Given the description of an element on the screen output the (x, y) to click on. 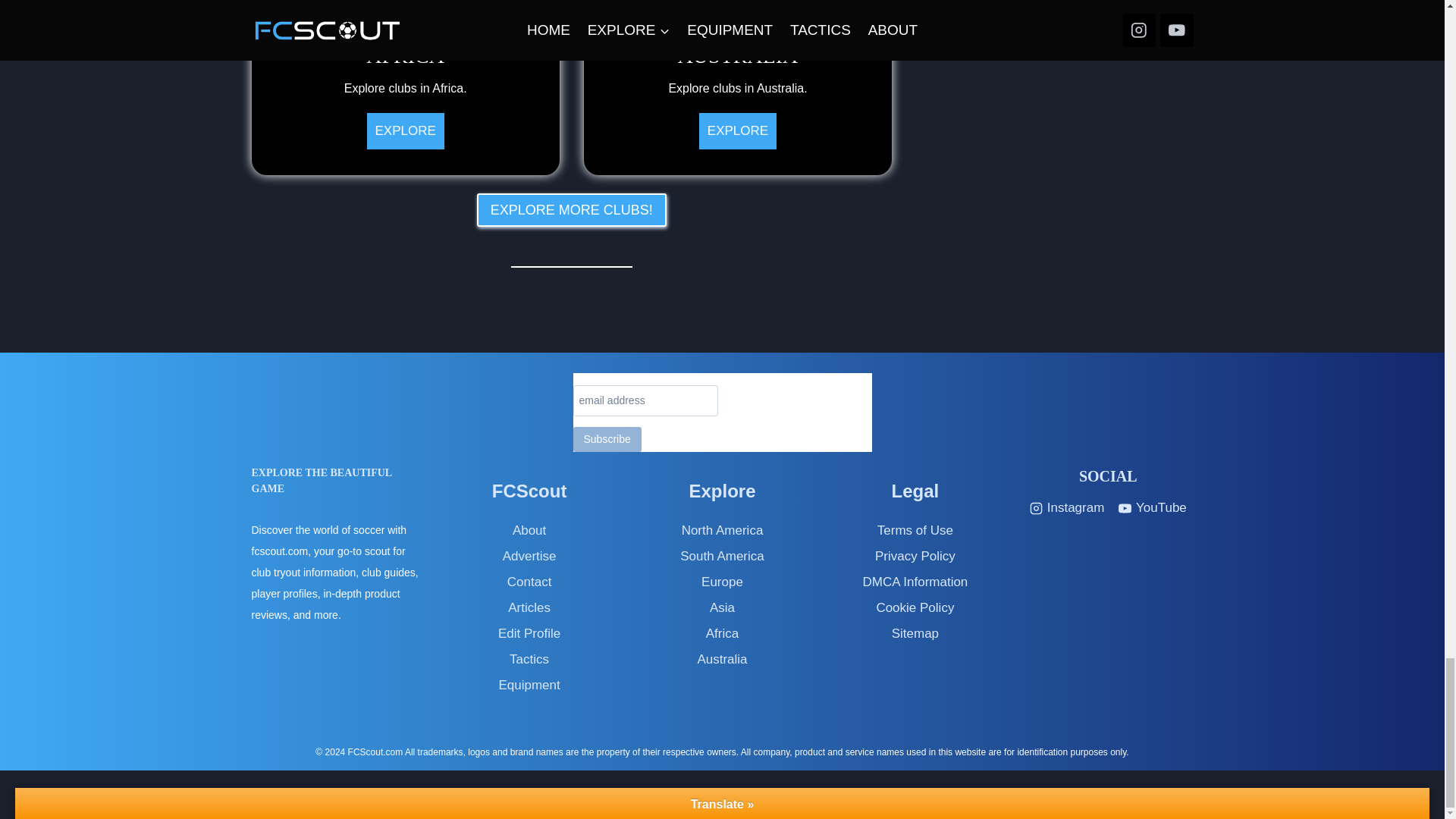
EXPLORE MORE CLUBS! (737, 87)
Subscribe (571, 209)
